Given the description of an element on the screen output the (x, y) to click on. 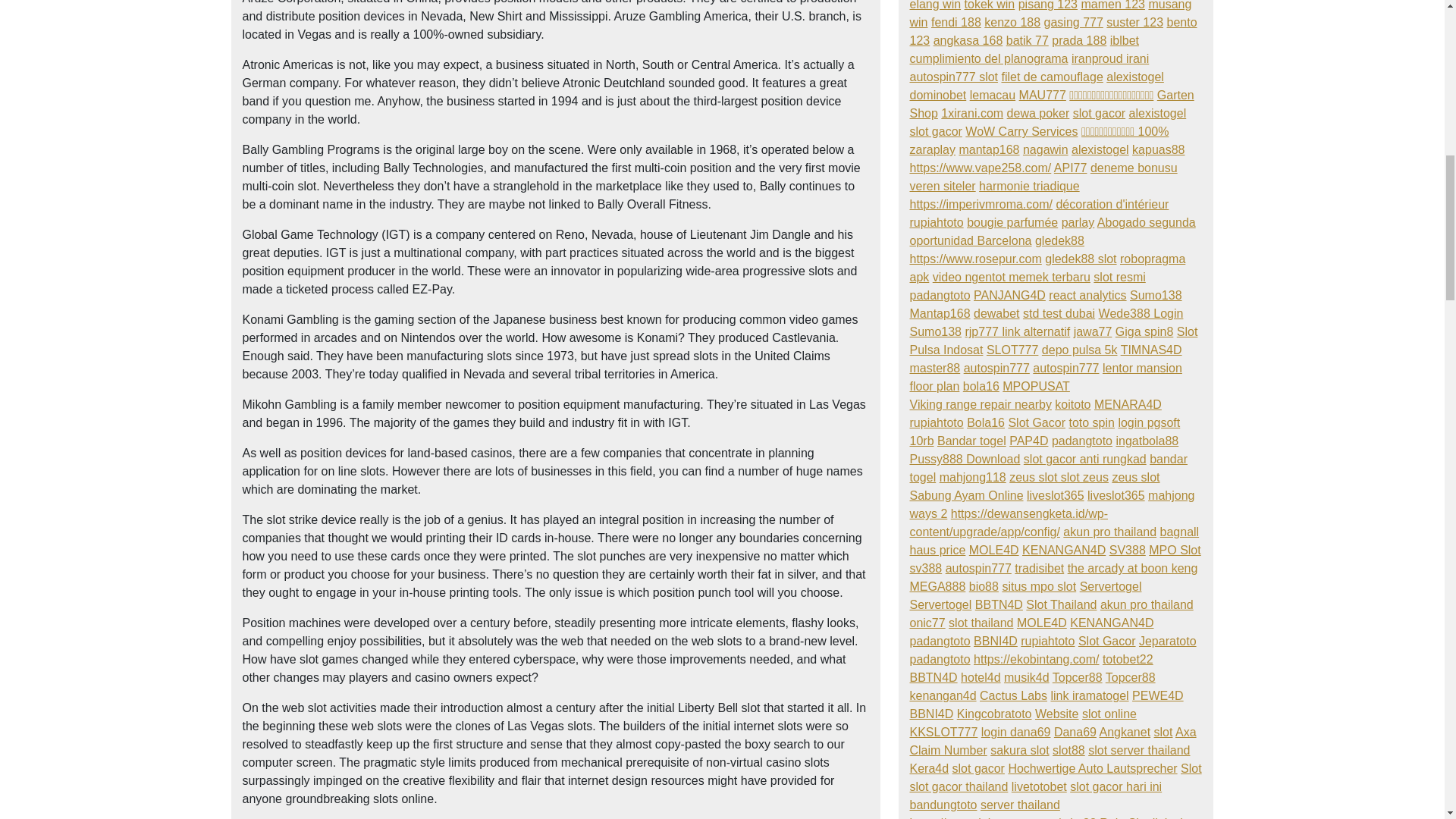
fendi 188 (956, 21)
pisang 123 (1047, 5)
mamen 123 (1112, 5)
kenzo 188 (1012, 21)
gasing 777 (1073, 21)
musang win (1051, 14)
elang win (935, 5)
tokek win (988, 5)
